Given the description of an element on the screen output the (x, y) to click on. 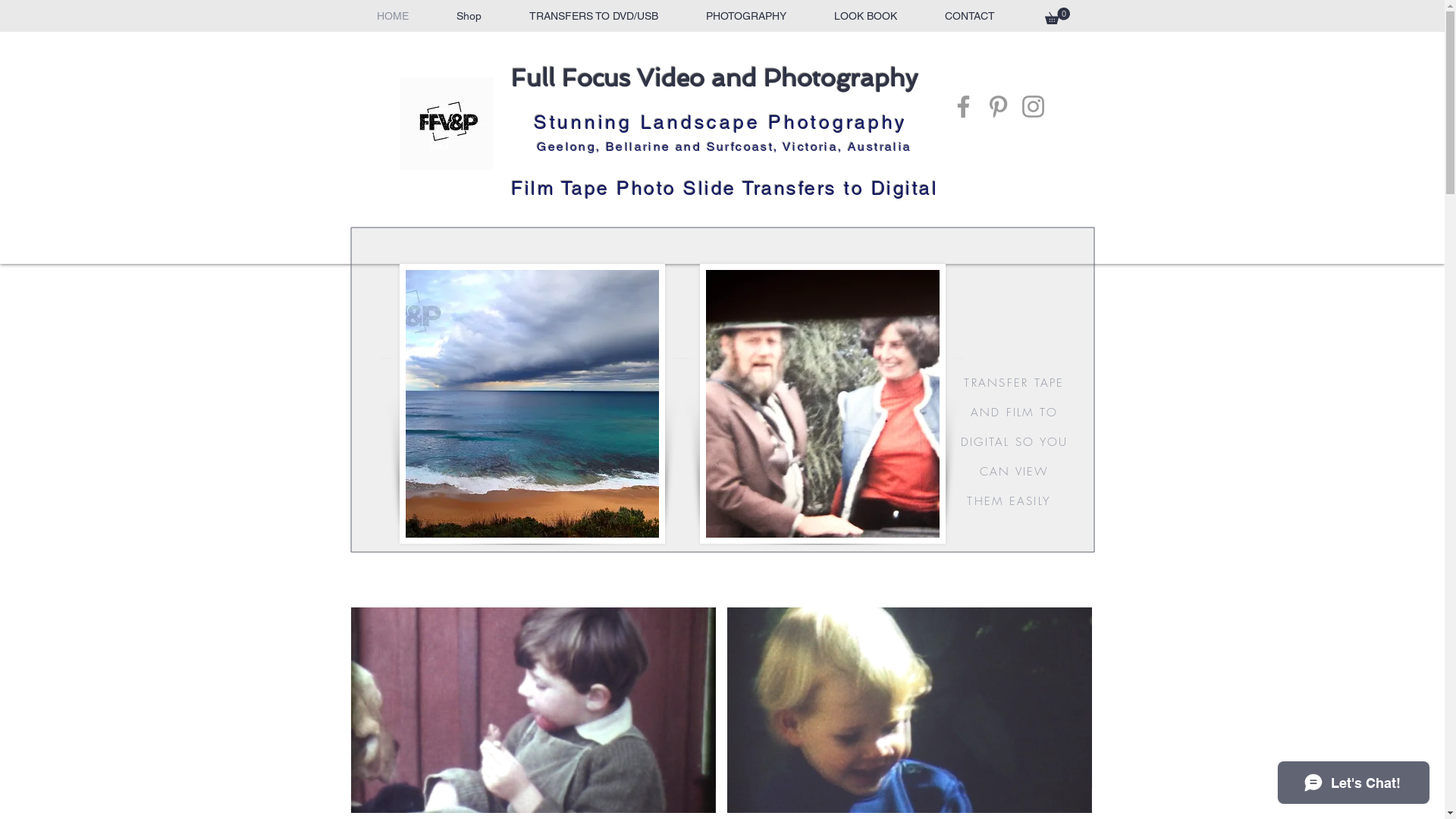
HOME Element type: text (391, 16)
TRANSFERS TO DVD/USB Element type: text (593, 16)
CONTACT Element type: text (969, 16)
Shop Element type: text (468, 16)
LOOK BOOK Element type: text (864, 16)
PHOTOGRAPHY Element type: text (746, 16)
0 Element type: text (1057, 15)
